Given the description of an element on the screen output the (x, y) to click on. 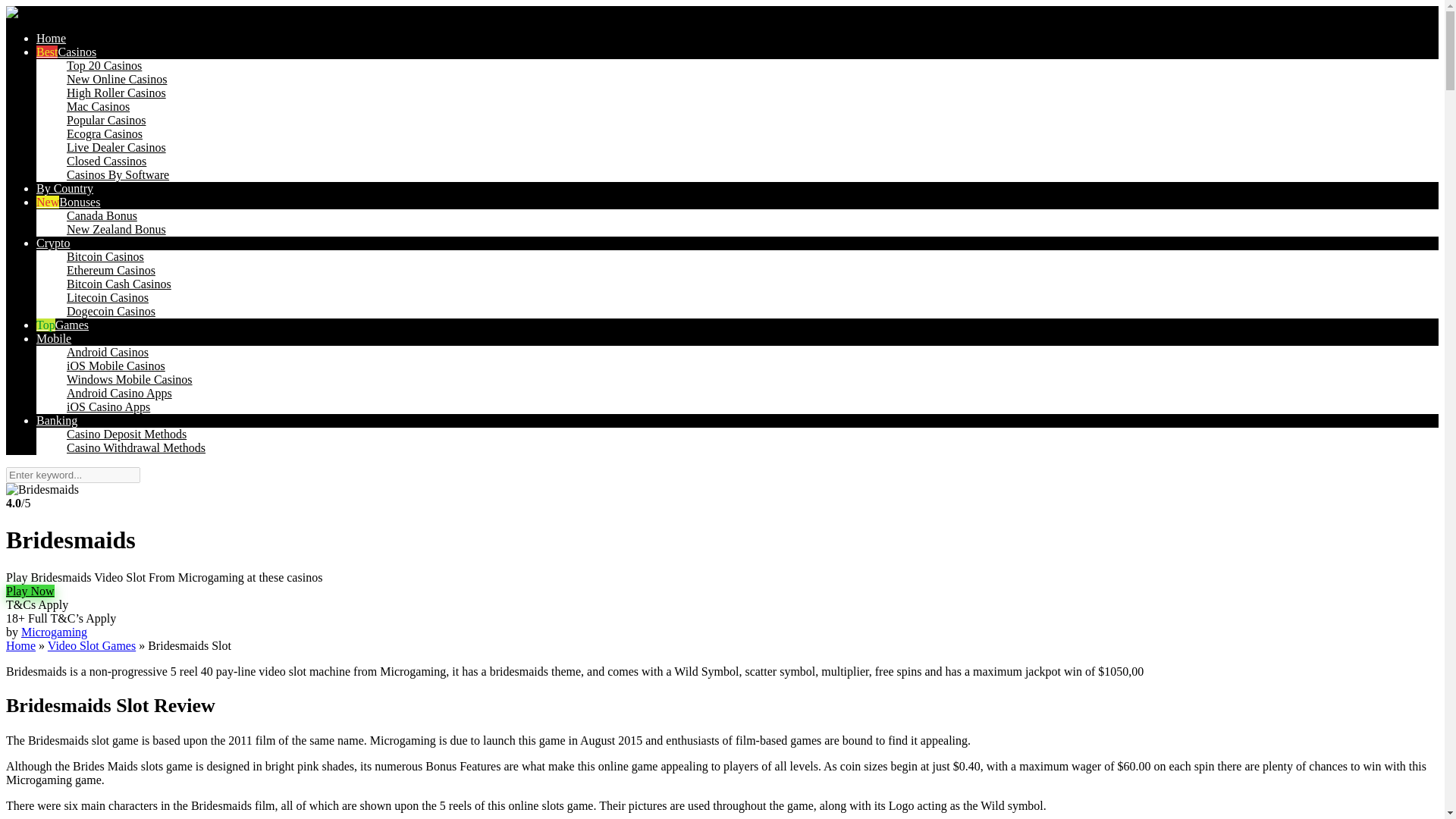
New Zealand Bonus (115, 229)
Android Casinos (107, 352)
Video Slot Games (91, 645)
Canada Bonus (101, 215)
High Roller Casinos (115, 92)
Casino Deposit Methods (126, 434)
iOS Mobile Casinos (115, 366)
Casinos (66, 51)
Litecoin Casinos (107, 297)
Bitcoin Casinos (105, 256)
